Given the description of an element on the screen output the (x, y) to click on. 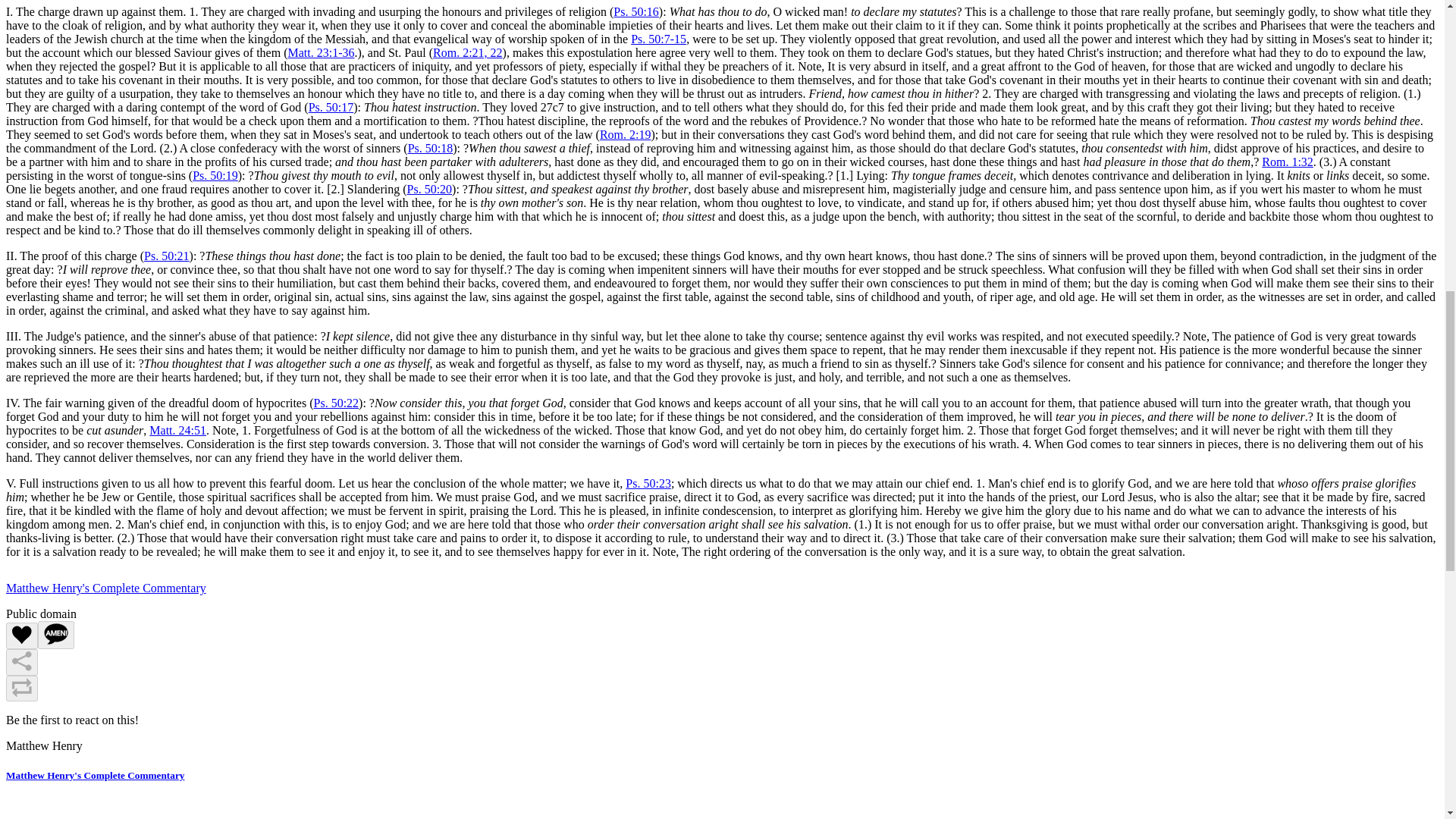
Bible Passages - Rom. 1:32 - click to view detail (1287, 161)
Like (21, 635)
Bible Passages - Ps. 50:19 - click to view detail (215, 174)
Bible Passages - Ps. 50:7-15 - click to view detail (657, 38)
Share (21, 662)
Bible Passages - Ps. 50:21 - click to view detail (166, 255)
Bible Passages - Ps. 50:22 - click to view detail (336, 402)
Bible Passages - Ps. 50:20 - click to view detail (428, 188)
Amen (55, 634)
Bible Passages - Ps. 50:18 - click to view detail (429, 147)
Store (57, 29)
Bible Passages - Matt. 24:51 - click to view detail (177, 430)
Bible Passages - Rom. 2:19 - click to view detail (624, 133)
Bible Passages - Ps. 50:17 - click to view detail (330, 106)
Bible Passages - Rom. 2:21, 22 - click to view detail (467, 51)
